Given the description of an element on the screen output the (x, y) to click on. 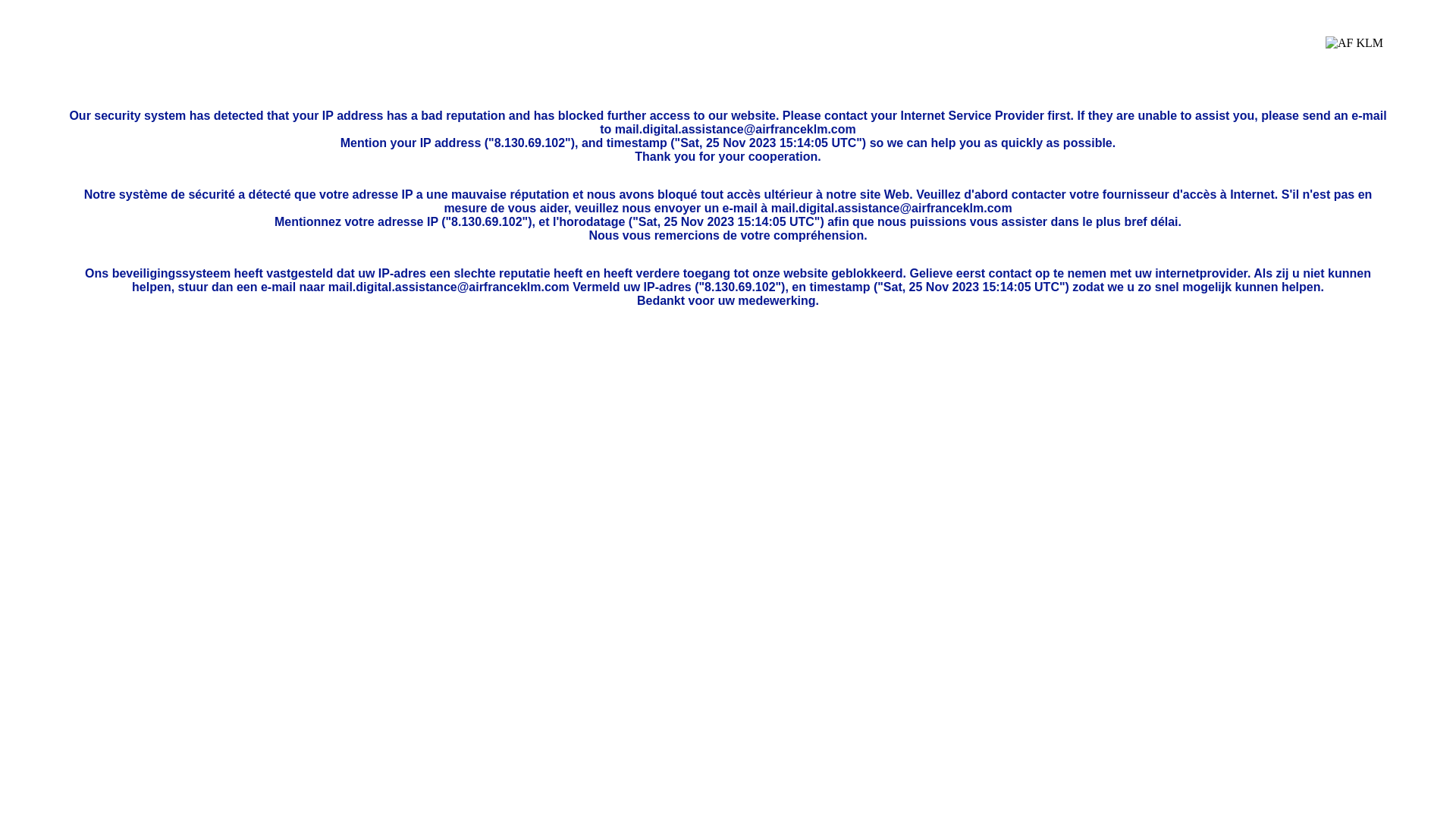
AF KLM Element type: hover (1354, 54)
